Given the description of an element on the screen output the (x, y) to click on. 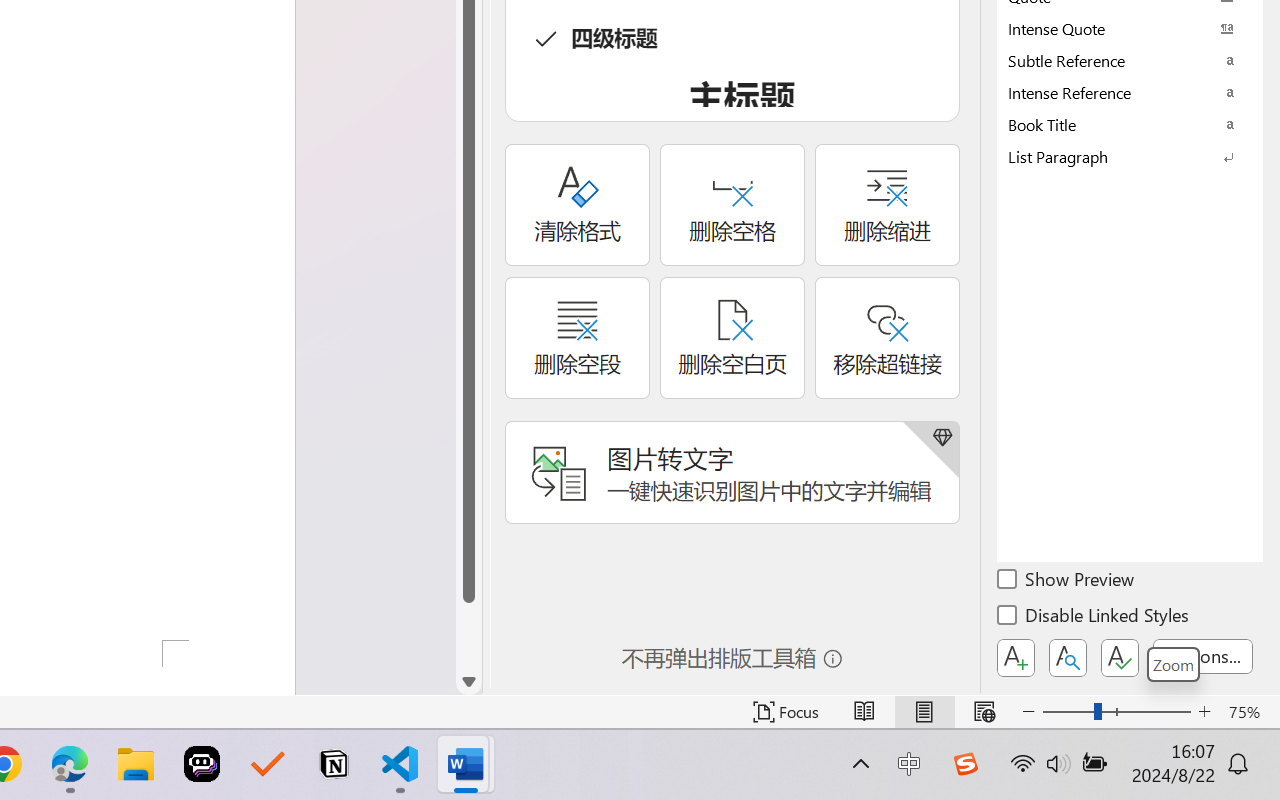
List Paragraph (1130, 156)
Zoom (1173, 664)
Subtle Reference (1130, 60)
Class: NetUIImage (1116, 156)
Intense Reference (1130, 92)
Zoom (1116, 712)
Page down (468, 635)
Read Mode (864, 712)
Zoom In (1204, 712)
Web Layout (984, 712)
Disable Linked Styles (1094, 618)
